Given the description of an element on the screen output the (x, y) to click on. 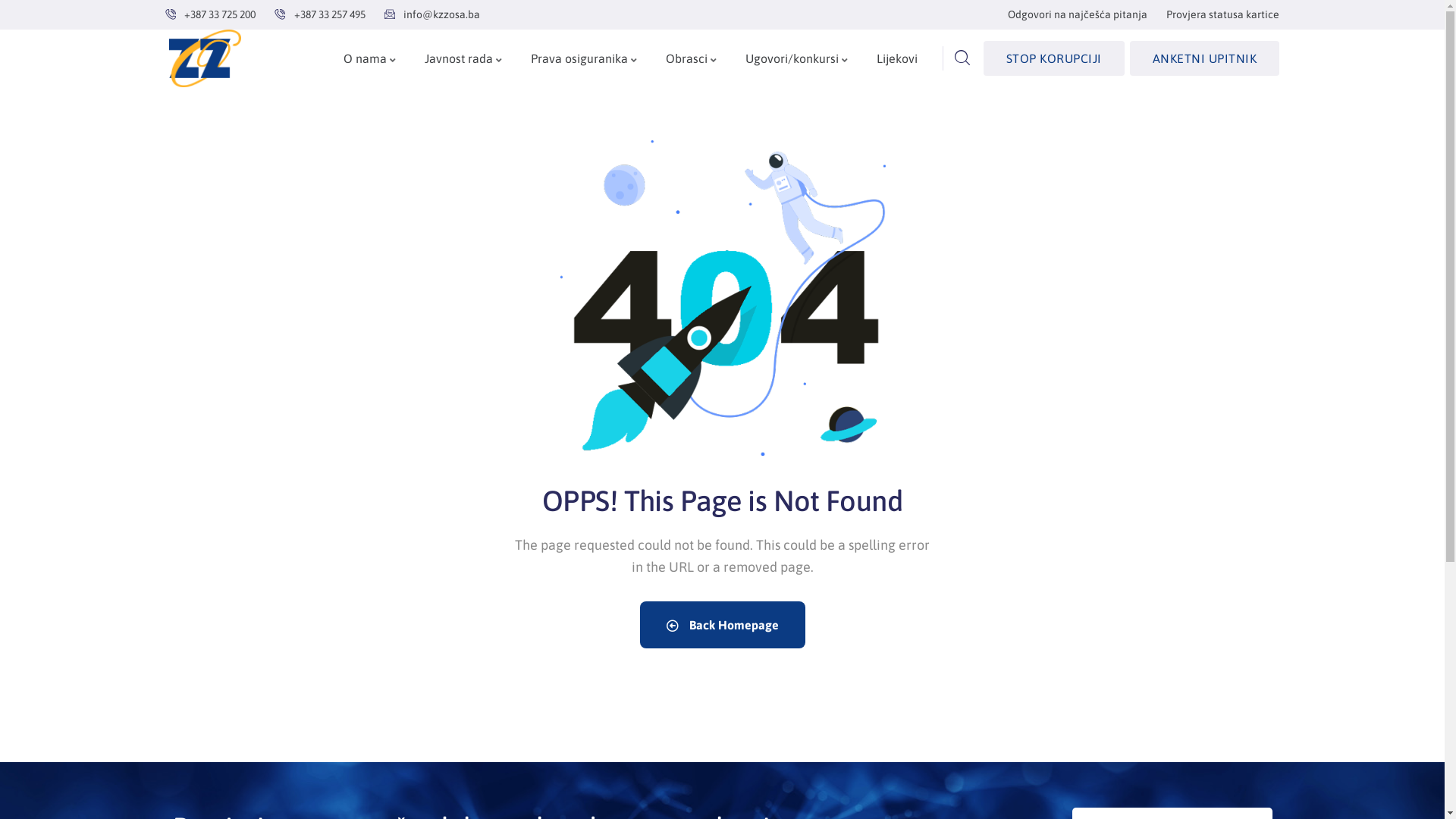
Lijekovi Element type: text (896, 58)
Prava osiguranika Element type: text (584, 58)
Back Homepage Element type: text (722, 624)
STOP KORUPCIJI Element type: text (1053, 57)
ANKETNI UPITNIK Element type: text (1204, 57)
O nama Element type: text (370, 58)
Ugovori/konkursi Element type: text (797, 58)
+387 33 725 200 Element type: text (210, 14)
Javnost rada Element type: text (463, 58)
Provjera statusa kartice Element type: text (1222, 14)
Obrasci Element type: text (691, 58)
+387 33 257 495 Element type: text (319, 14)
info@kzzosa.ba Element type: text (431, 14)
